Given the description of an element on the screen output the (x, y) to click on. 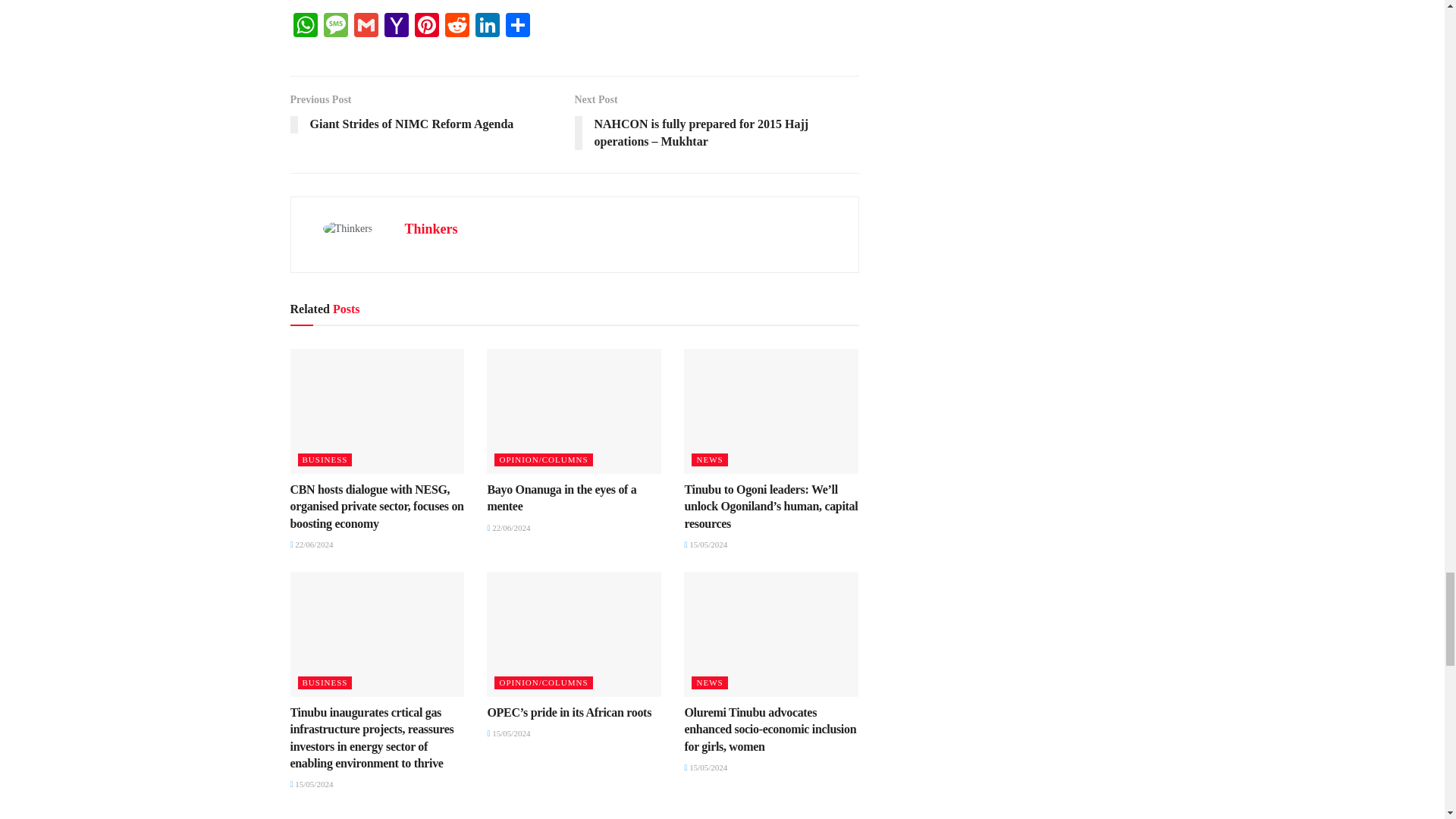
Message (335, 26)
Reddit (456, 26)
WhatsApp (304, 26)
Yahoo Mail (395, 26)
Pinterest (425, 26)
LinkedIn (486, 26)
Gmail (365, 26)
